Given the description of an element on the screen output the (x, y) to click on. 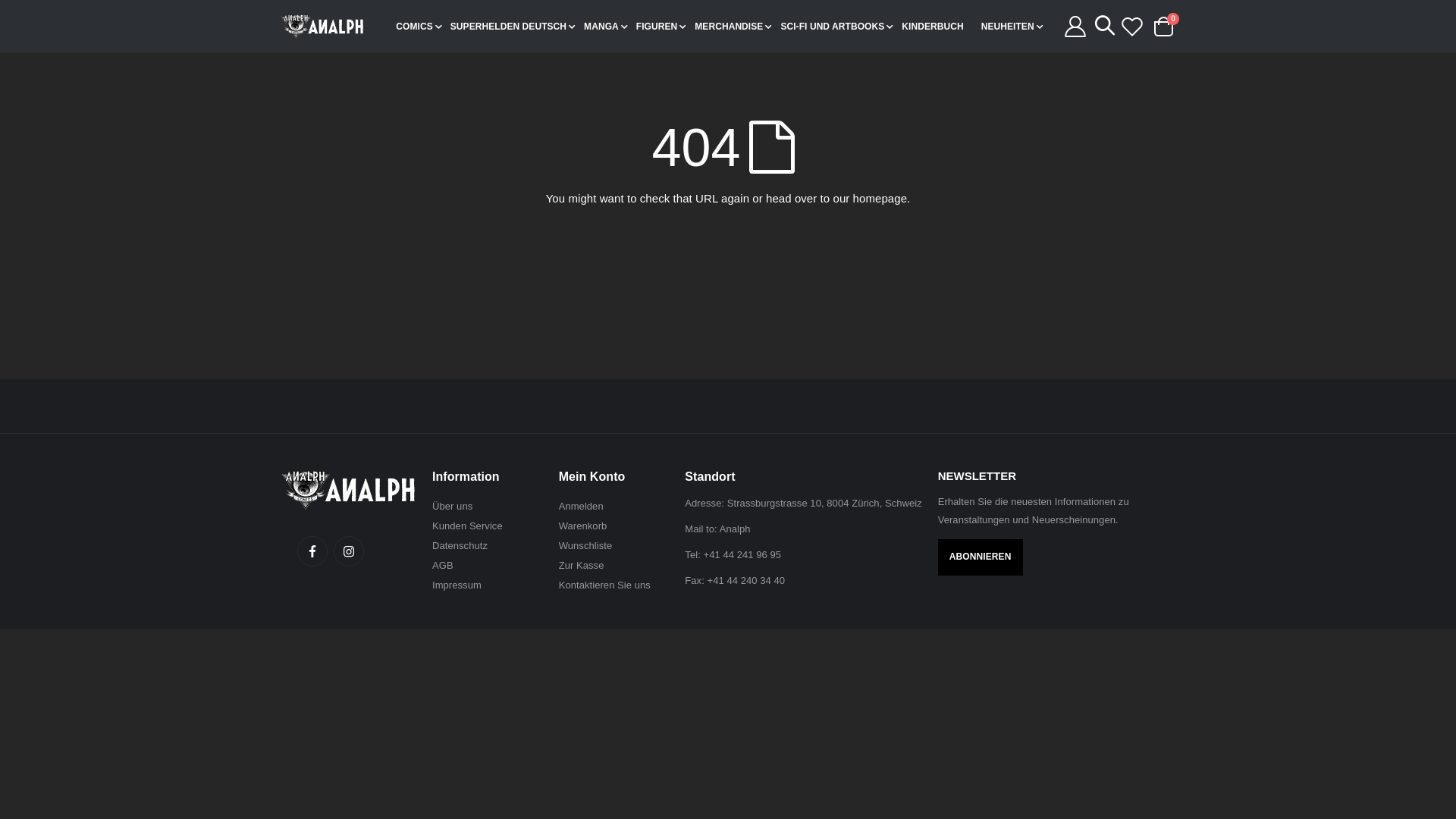
Instagram Element type: text (348, 551)
homepage. Element type: text (881, 197)
AGB Element type: text (442, 565)
Anmelden Element type: text (580, 505)
SUPERHELDEN DEUTSCH Element type: text (512, 26)
KINDERBUCH Element type: text (936, 26)
Facebook Element type: text (312, 551)
FIGUREN Element type: text (660, 26)
Warenkorb Element type: text (582, 525)
Zur Kasse Element type: text (581, 565)
Wunschliste Element type: text (585, 545)
NEUHEITEN Element type: text (1011, 26)
MERCHANDISE Element type: text (732, 26)
COMICS Element type: text (418, 26)
Impressum Element type: text (456, 584)
Analph Element type: text (734, 528)
MANGA Element type: text (605, 26)
Wishlist Element type: hover (1132, 26)
ABONNIEREN Element type: text (980, 557)
Kunden Service Element type: text (467, 525)
Cart
0 Element type: text (1163, 26)
SCI-FI UND ARTBOOKS Element type: text (836, 26)
Datenschutz Element type: text (459, 545)
Kontaktieren Sie uns Element type: text (604, 584)
